Given the description of an element on the screen output the (x, y) to click on. 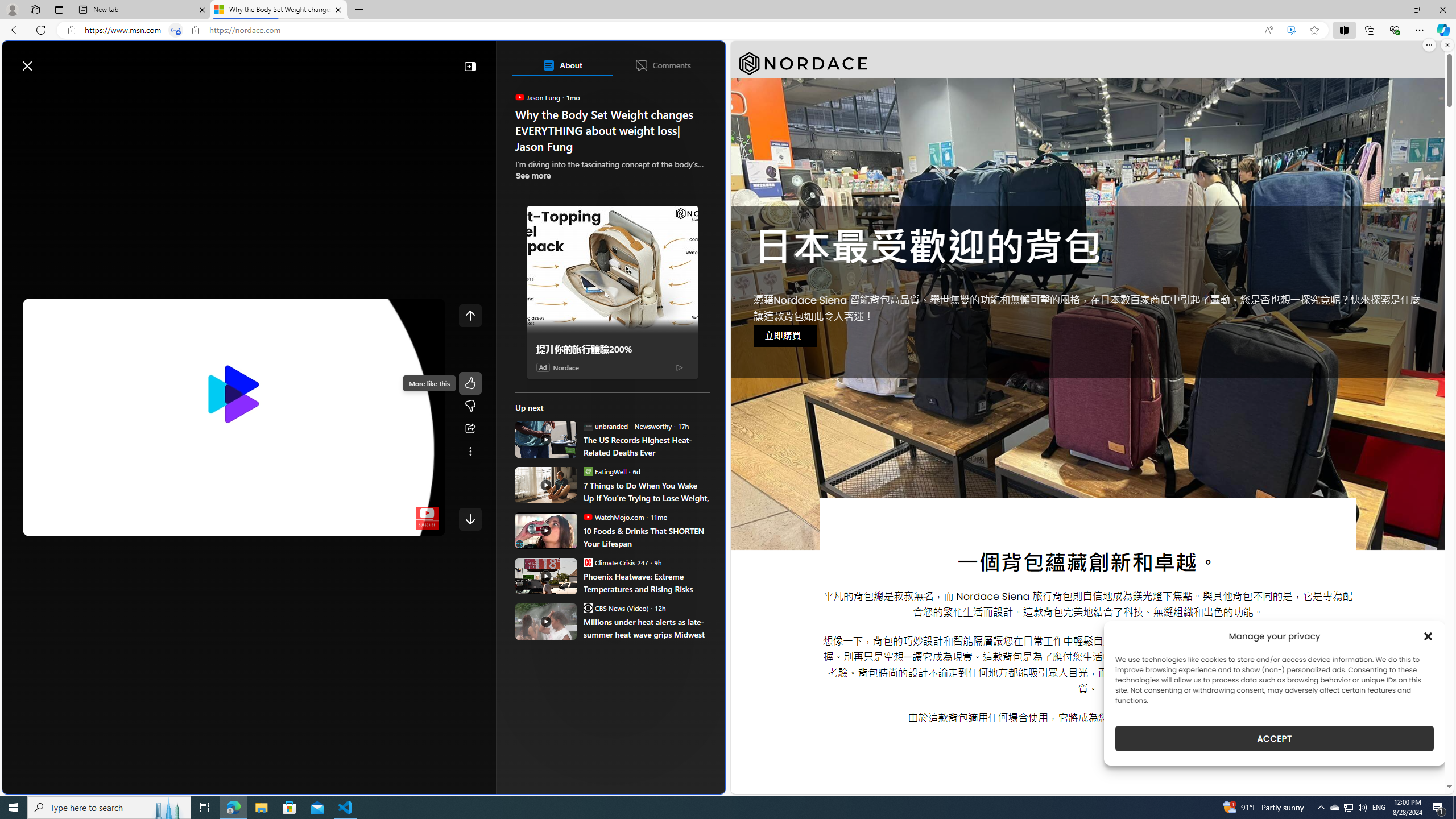
Seek slider (233, 512)
Following (97, 92)
Nordace (566, 366)
Collapse (469, 65)
CBS News (Video) (587, 607)
Settings and more (Alt+F) (1419, 29)
Back (13, 29)
10 Foods & Drinks That SHORTEN Your Lifespan (646, 537)
Open navigation menu (16, 92)
The US Records Highest Heat-Related Deaths Ever (646, 445)
Microsoft Start (53, 60)
Feedback (681, 784)
